Given the description of an element on the screen output the (x, y) to click on. 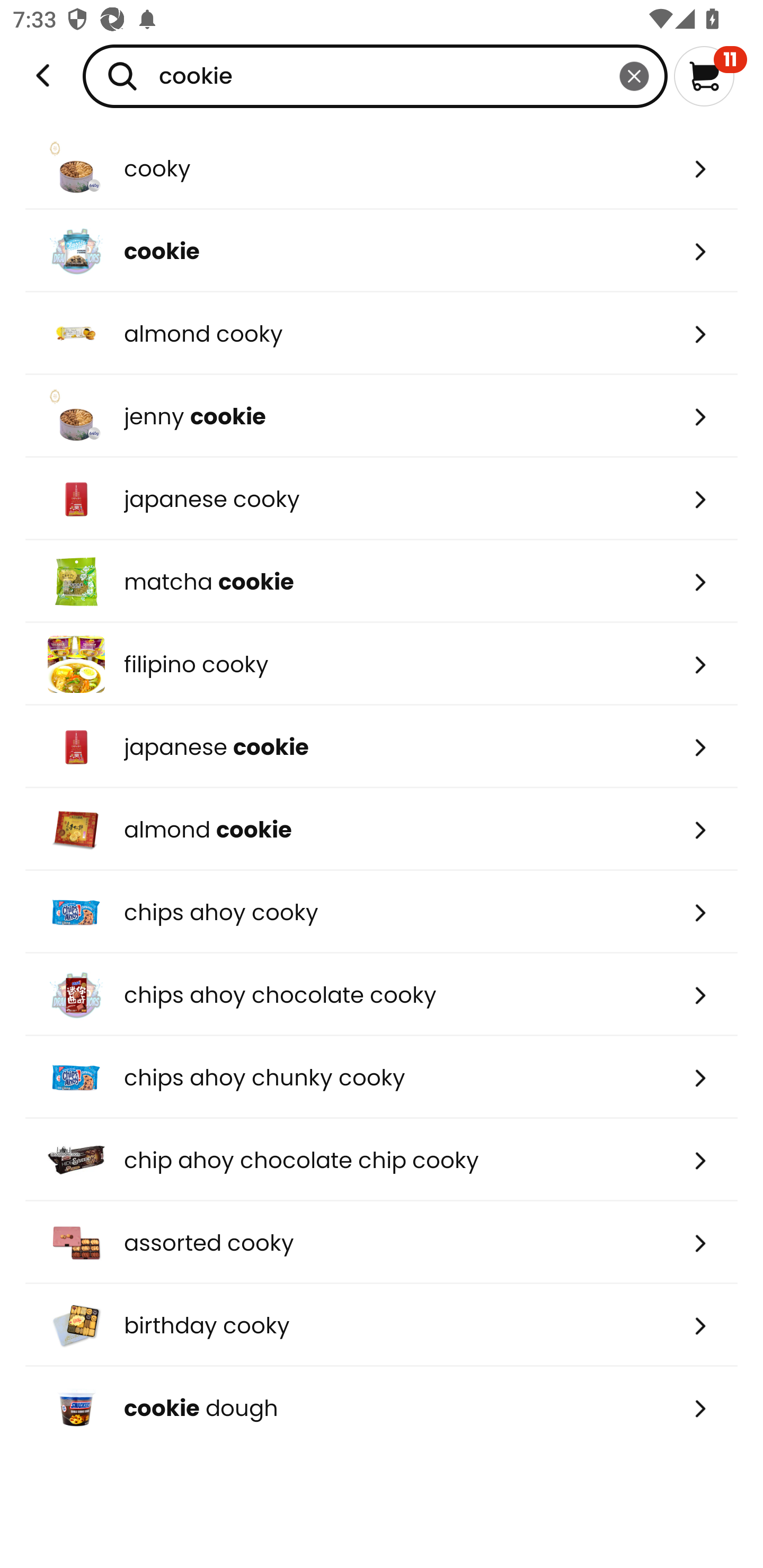
cookie (374, 75)
11 (709, 75)
Weee! (42, 76)
cooky (381, 168)
cookie (381, 250)
almond cooky (381, 332)
jenny cookie (381, 415)
japanese cooky (381, 498)
matcha cookie (381, 581)
filipino cooky (381, 663)
japanese cookie (381, 746)
almond cookie (381, 829)
chips ahoy cooky (381, 911)
chips ahoy chocolate cooky (381, 994)
chips ahoy chunky cooky (381, 1077)
chip ahoy chocolate chip cooky (381, 1160)
assorted cooky (381, 1242)
birthday cooky (381, 1325)
cookie dough (381, 1407)
